Given the description of an element on the screen output the (x, y) to click on. 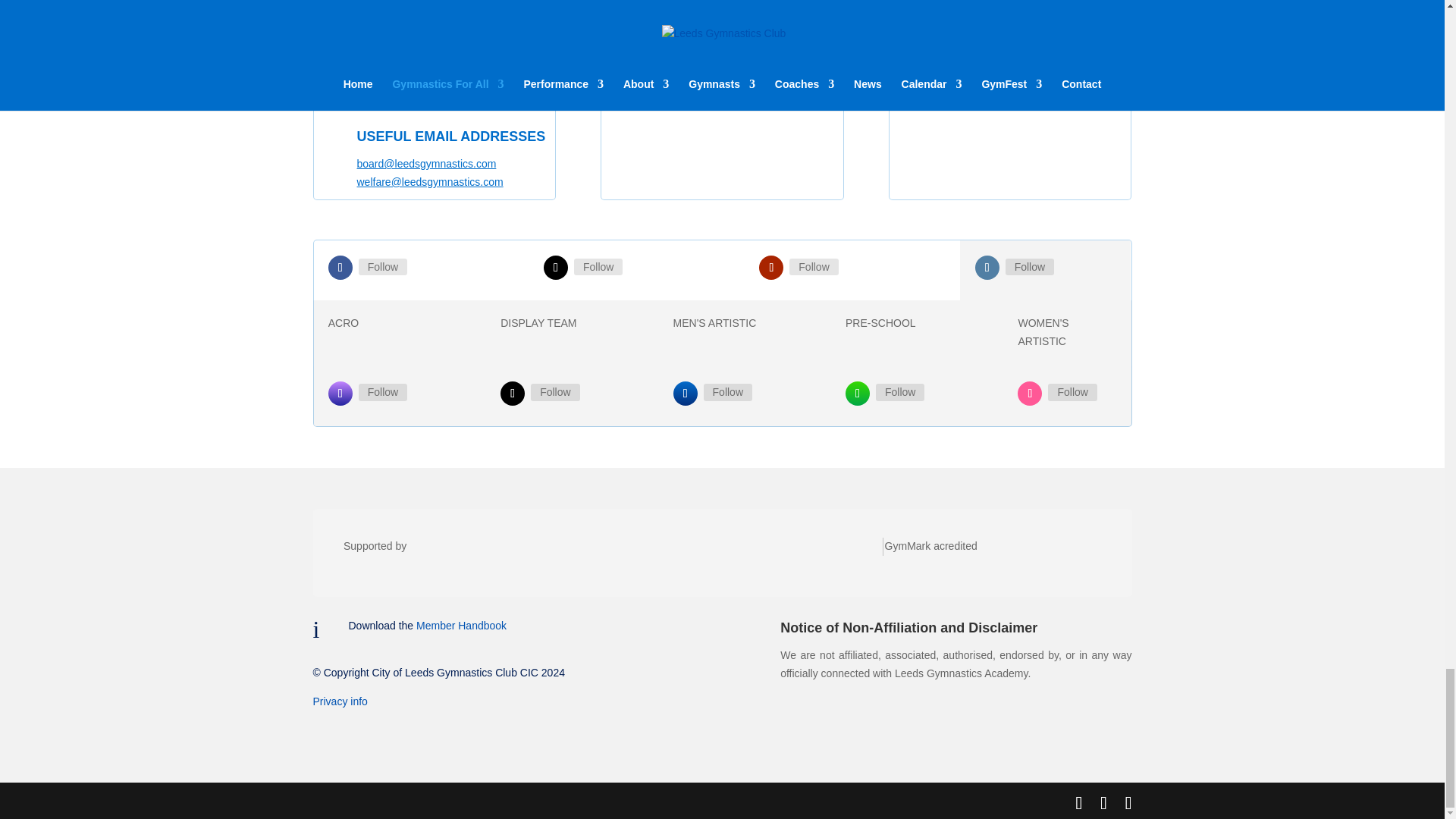
Follow on Facebook (340, 267)
Instagram (1030, 266)
Instagram (727, 392)
Follow on Instagram (684, 393)
Follow on Instagram (857, 393)
Facebook (382, 266)
Follow on Instagram (340, 393)
Follow on Youtube (770, 267)
Instagram (555, 392)
Twitter (598, 266)
